Given the description of an element on the screen output the (x, y) to click on. 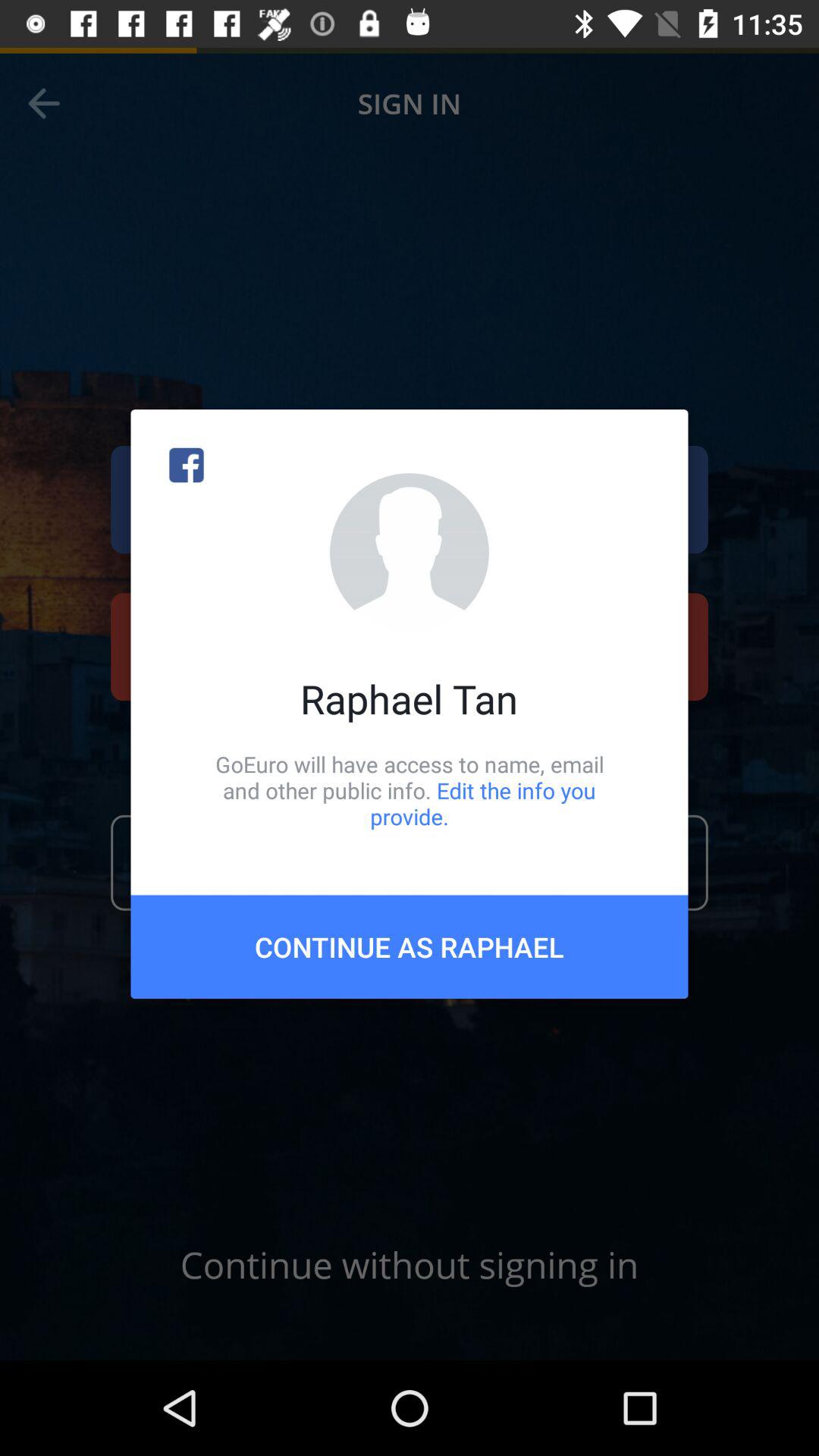
turn off the goeuro will have item (409, 790)
